Given the description of an element on the screen output the (x, y) to click on. 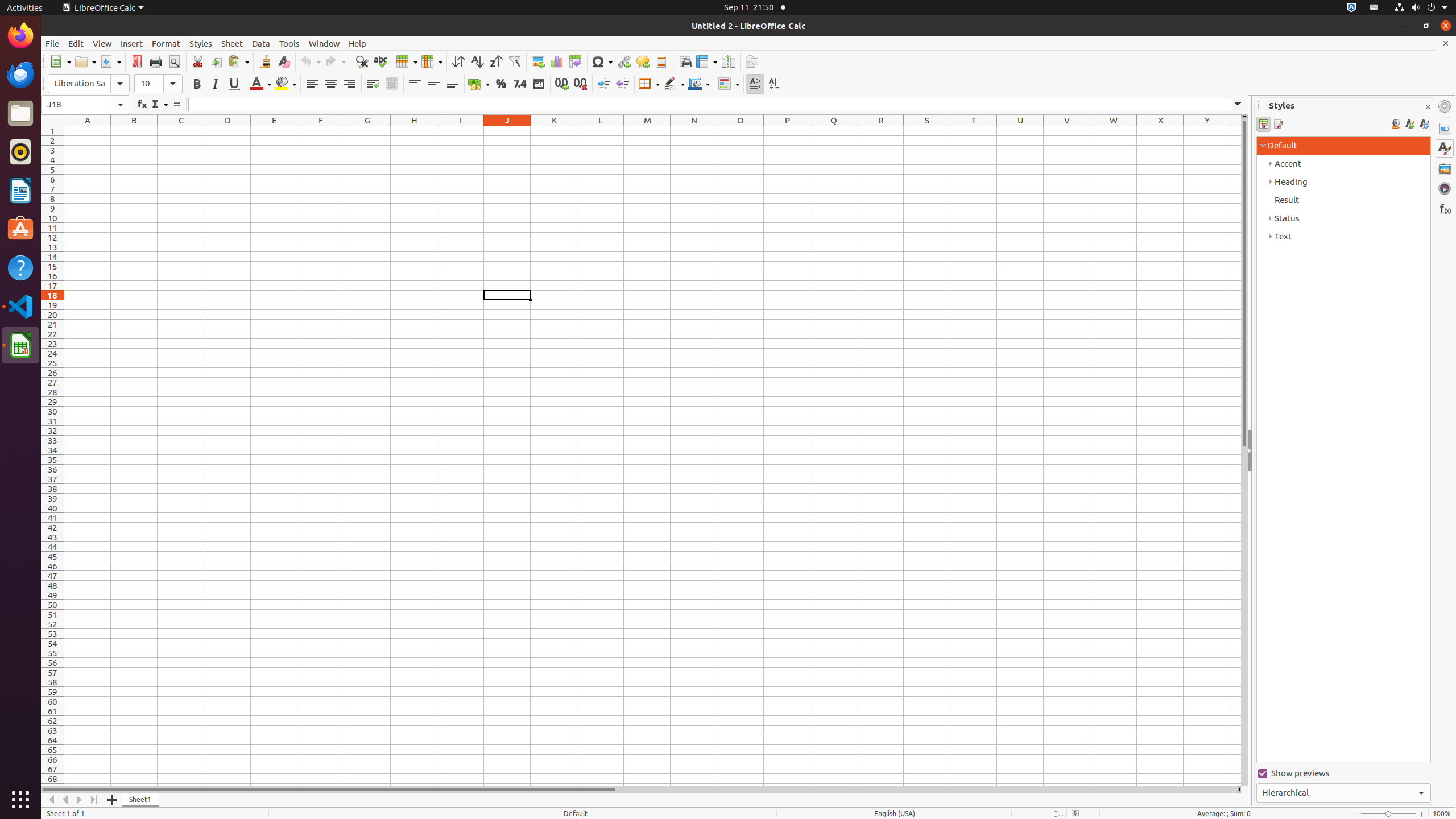
Name Box Element type: text (75, 104)
T1 Element type: table-cell (973, 130)
Apply Style Element type: text (41, 73)
Save Element type: push-button (109, 61)
